Given the description of an element on the screen output the (x, y) to click on. 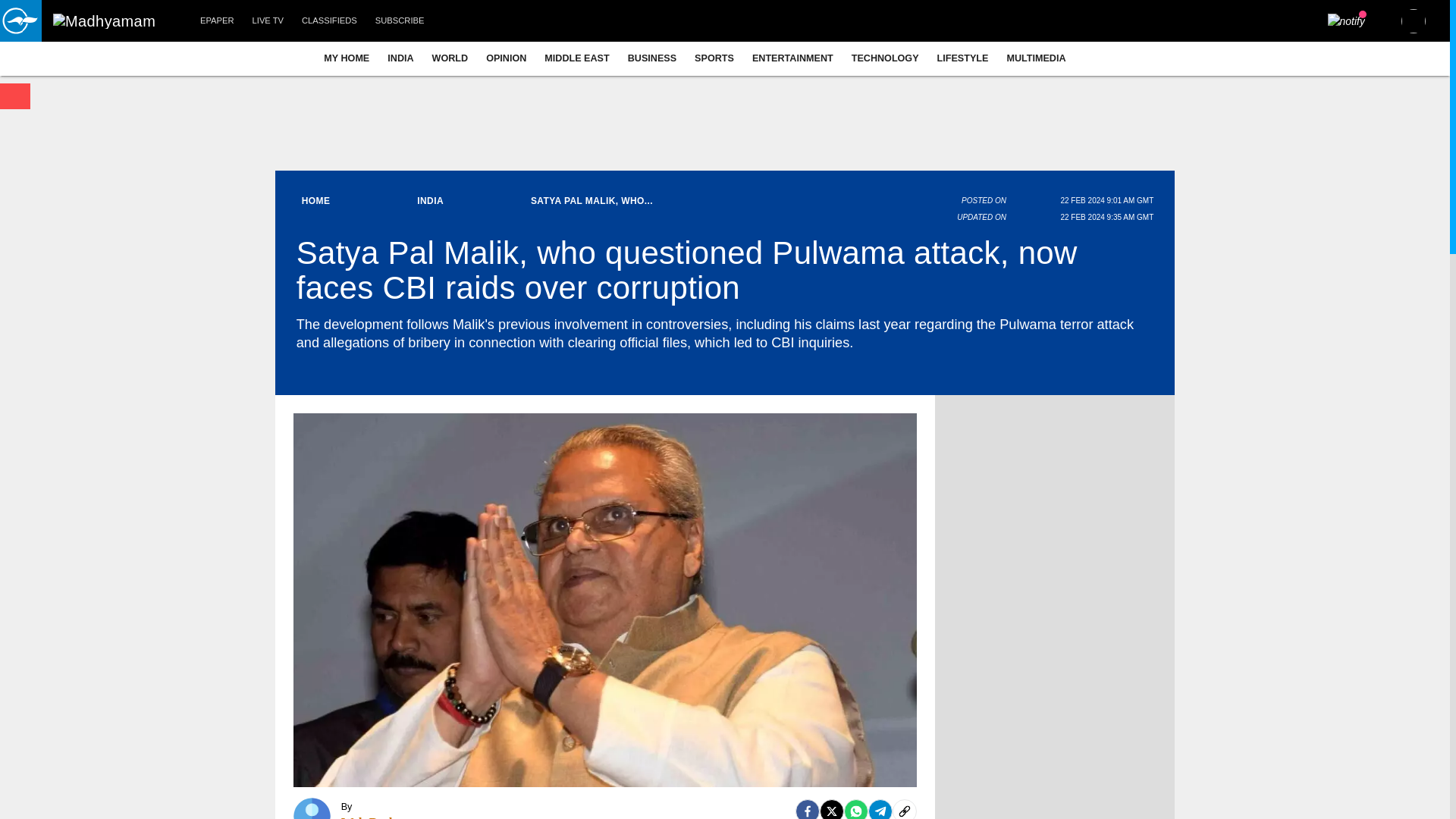
CLASSIFIEDS (329, 20)
WORLD (450, 58)
ENTERTAINMENT (792, 58)
Madhyamam (103, 20)
notify (1346, 20)
EPAPER (216, 20)
TECHNOLOGY (885, 58)
BUSINESS (651, 58)
MIDDLE EAST (576, 58)
INDIA (400, 58)
